Given the description of an element on the screen output the (x, y) to click on. 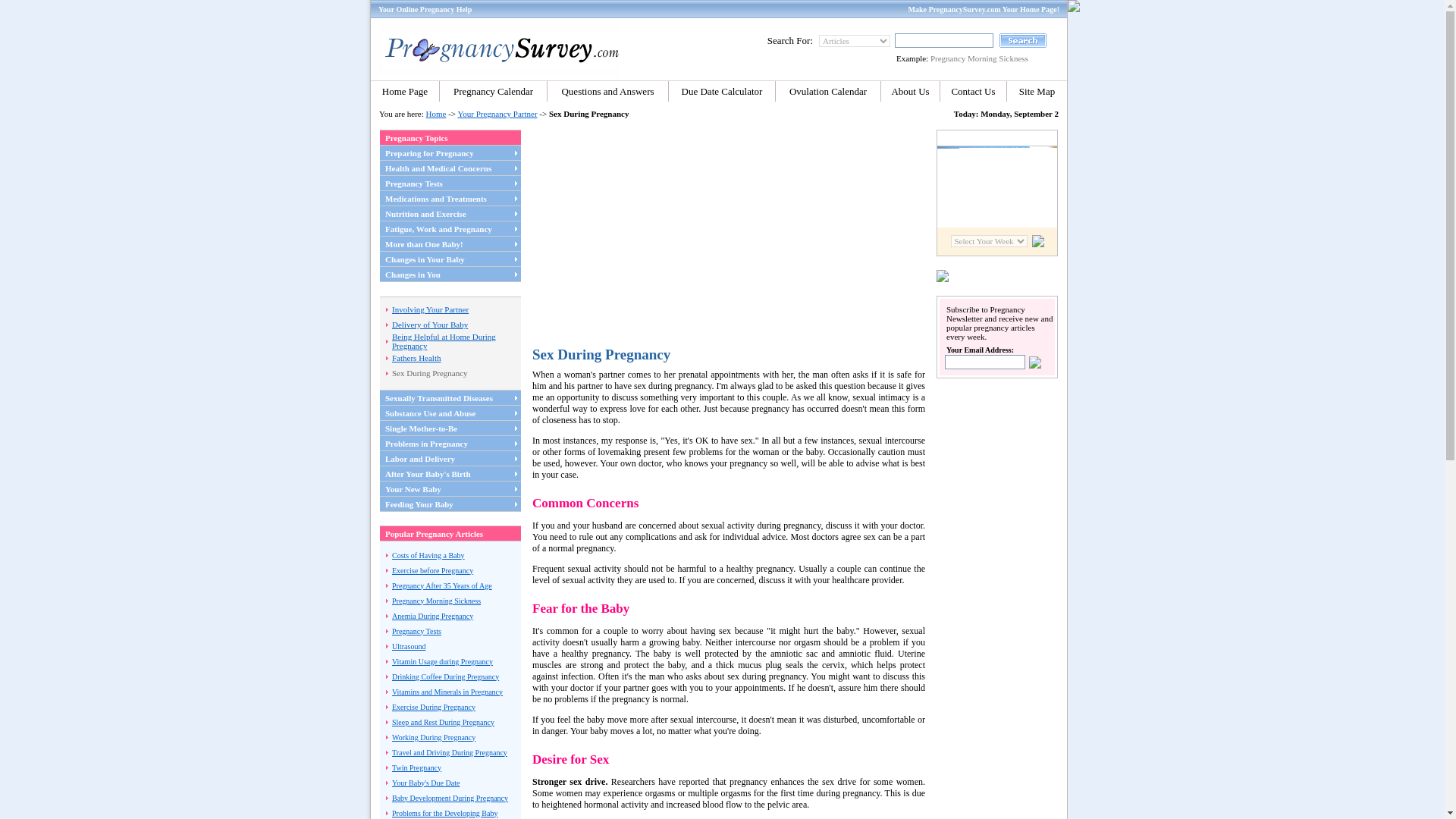
Fatigue, Work and Pregnancy (438, 228)
Anemia During Pregnancy (432, 614)
After Your Baby's Birth (427, 472)
Delivery of Your Baby (429, 324)
Involving Your Partner (429, 308)
Nutrition and Exercise (425, 213)
Changes in Your Baby (424, 258)
Pregnancy Calendar (492, 90)
Home Page (404, 90)
Problems in Pregnancy (426, 442)
